Given the description of an element on the screen output the (x, y) to click on. 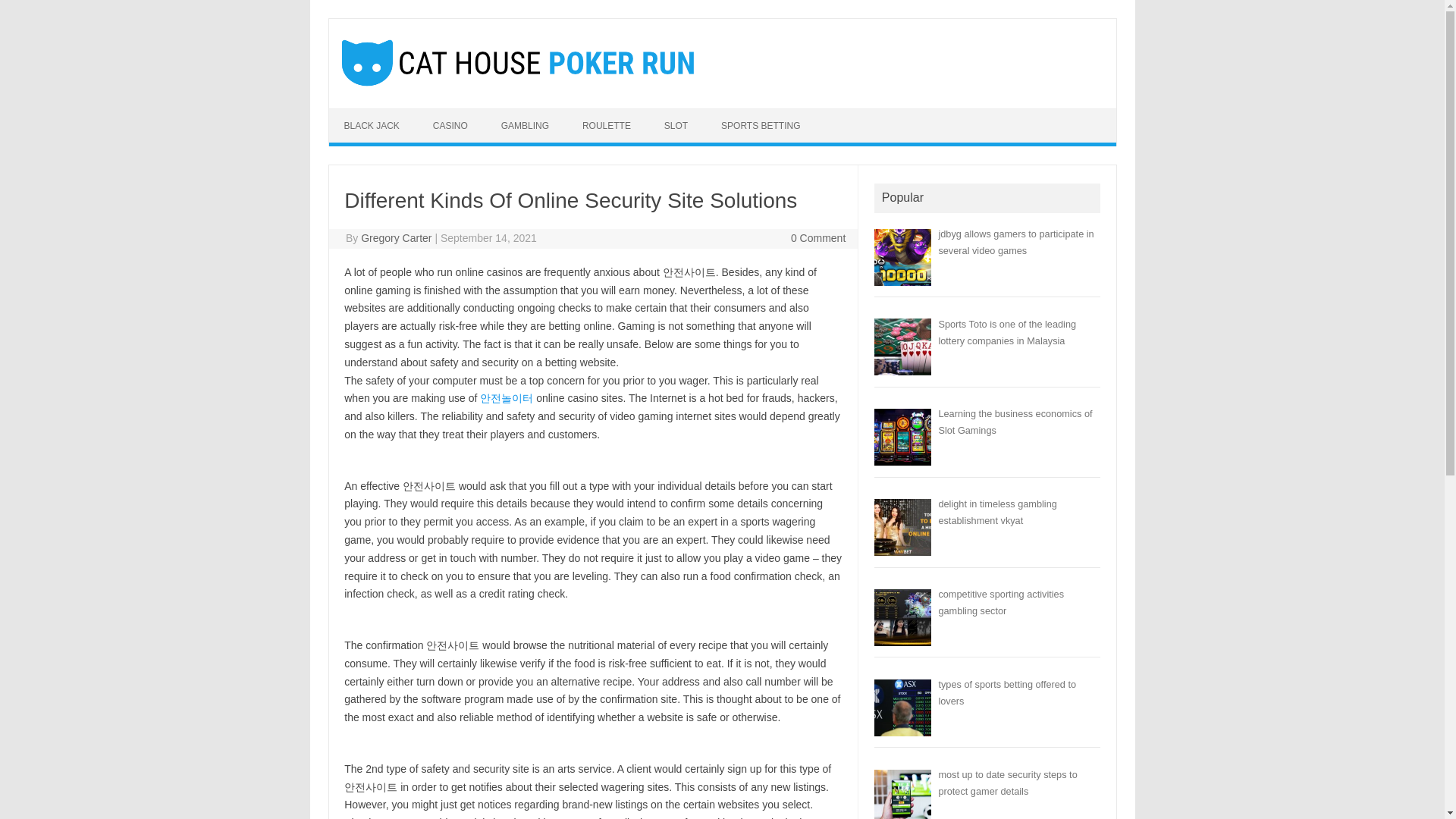
competitive sporting activities gambling sector (1000, 602)
Learning the business economics of Slot Gamings (1014, 421)
types of sports betting offered to lovers (1006, 692)
jdbyg allows gamers to participate in several video games (1015, 242)
GAMBLING (525, 125)
Gregory Carter (395, 237)
BLACK JACK (371, 125)
SPORTS BETTING (760, 125)
delight in timeless gambling establishment vkyat (997, 511)
0 Comment (817, 237)
Skip to content (363, 113)
CASINO (450, 125)
SLOT (676, 125)
Skip to content (363, 113)
